Given the description of an element on the screen output the (x, y) to click on. 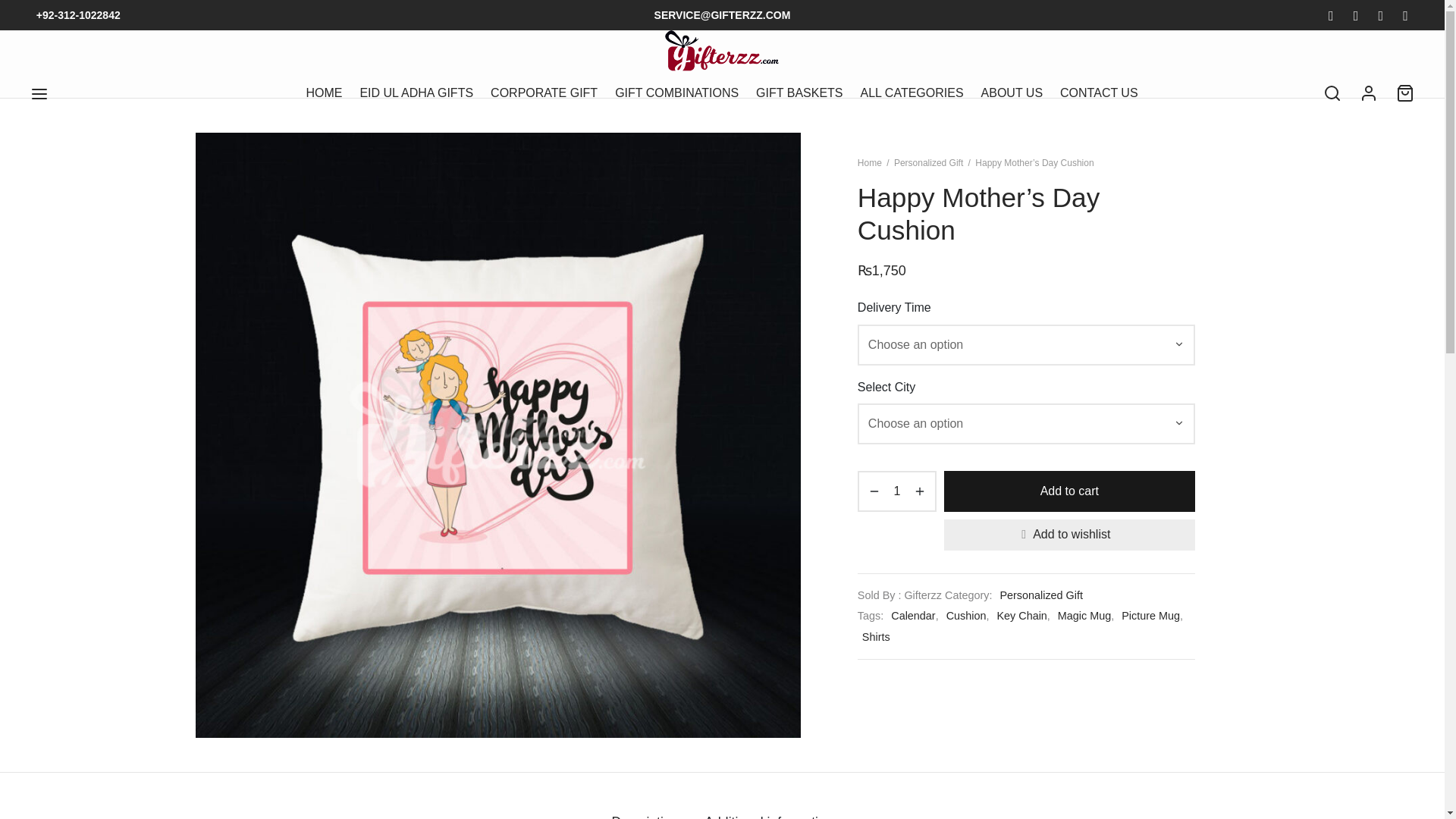
CORPORATE GIFT (543, 93)
EID UL ADHA GIFTS (416, 93)
GIFT BASKETS (799, 93)
Cart (1404, 93)
GIFT COMBINATIONS (676, 93)
HOME (323, 93)
ALL CATEGORIES (911, 93)
Qty (896, 491)
1 (896, 491)
